Given the description of an element on the screen output the (x, y) to click on. 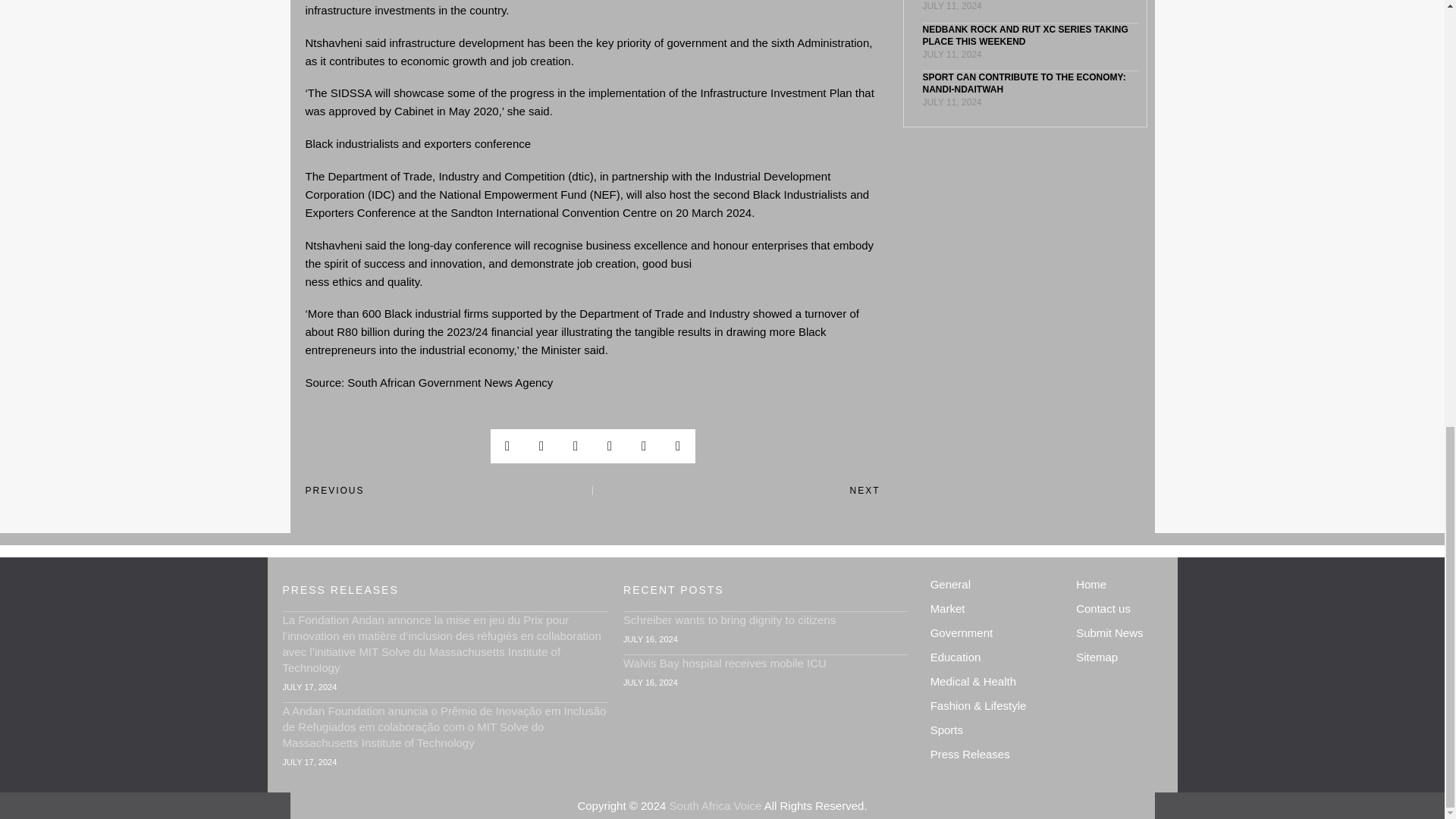
PREVIOUS (448, 490)
Walvis Bay hospital receives mobile ICU (725, 662)
NEXT (736, 490)
Education (992, 657)
Government (992, 632)
Market (992, 608)
SPORT CAN CONTRIBUTE TO THE ECONOMY: NANDI-NDAITWAH (1023, 83)
General (992, 584)
NEDBANK ROCK AND RUT XC SERIES TAKING PLACE THIS WEEKEND (1023, 35)
Schreiber wants to bring dignity to citizens (729, 619)
